Given the description of an element on the screen output the (x, y) to click on. 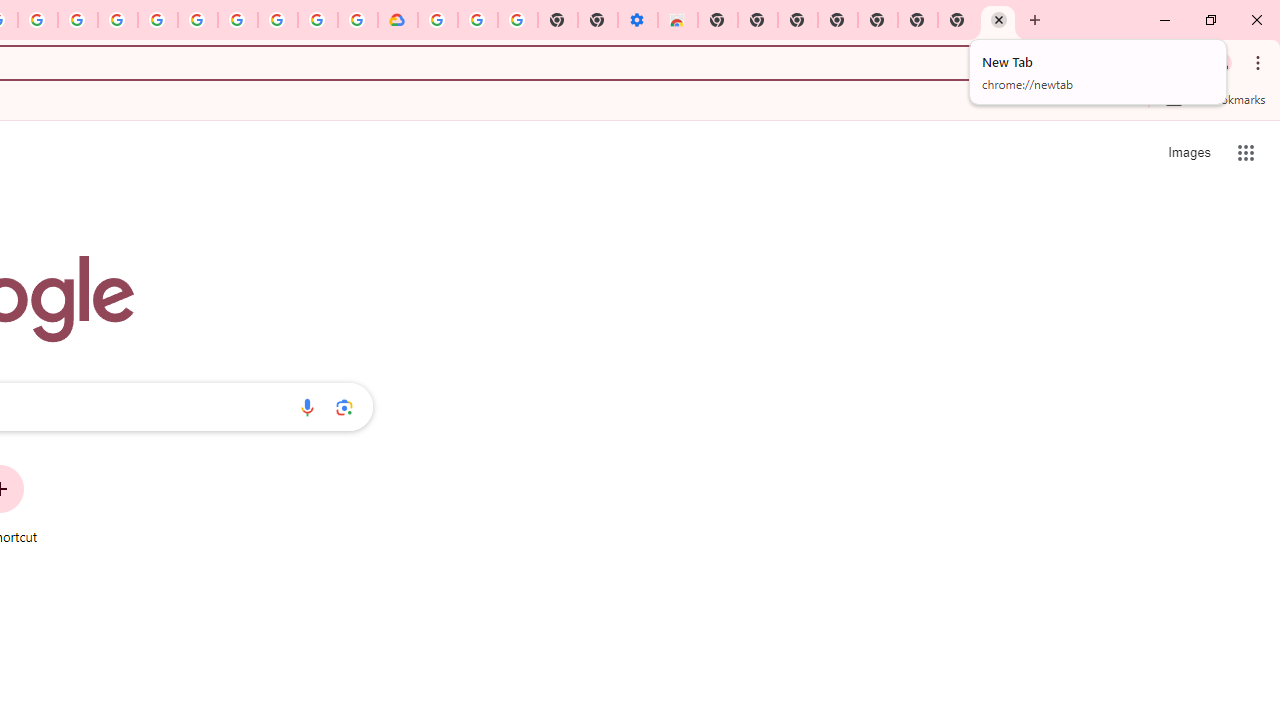
Sign in - Google Accounts (438, 20)
Google Account Help (477, 20)
Create your Google Account (37, 20)
Google Account Help (237, 20)
Turn cookies on or off - Computer - Google Account Help (517, 20)
Browse the Google Chrome Community - Google Chrome Community (357, 20)
Settings - Accessibility (637, 20)
Sign in - Google Accounts (157, 20)
